Given the description of an element on the screen output the (x, y) to click on. 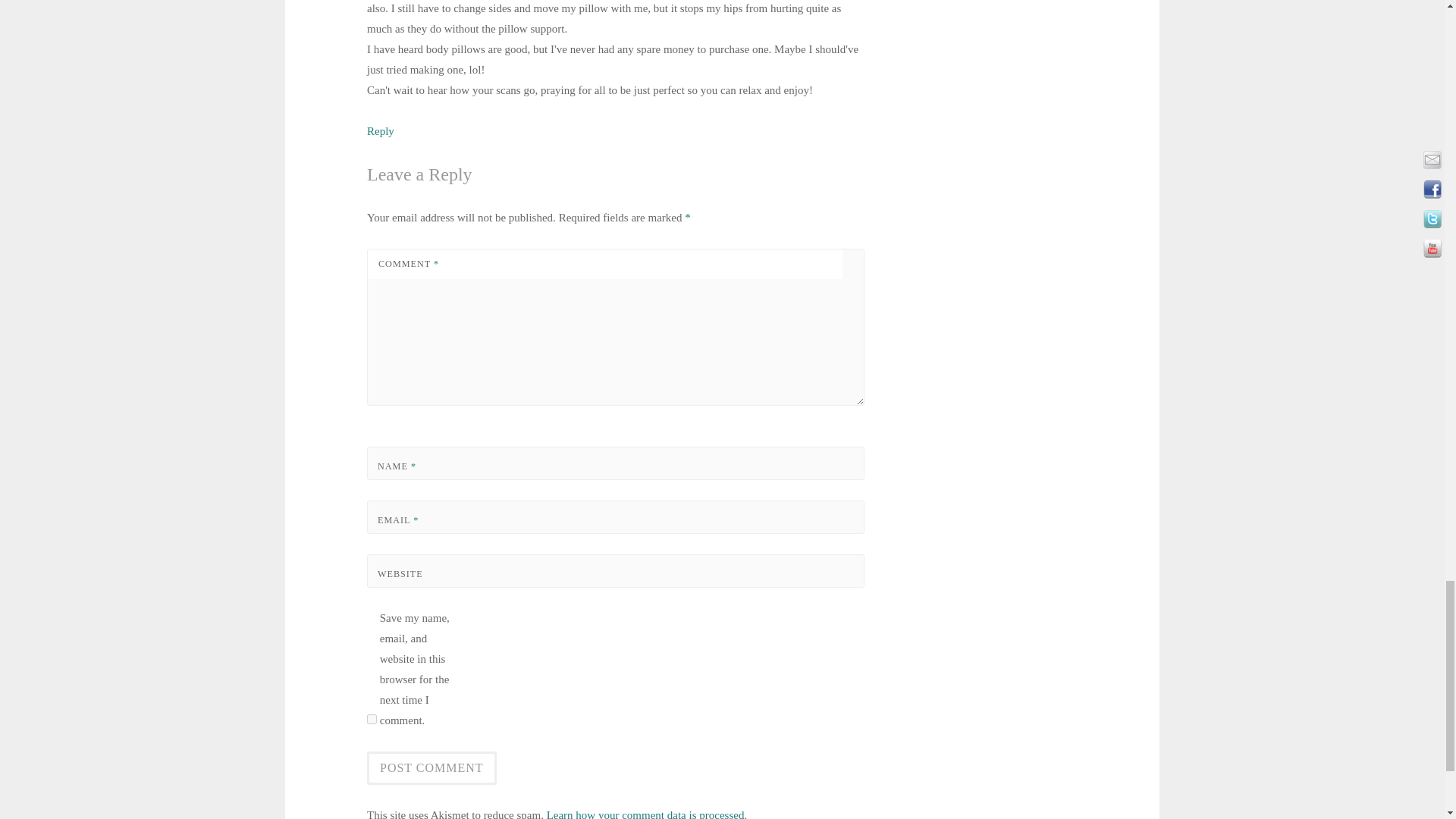
yes (371, 718)
Post Comment (431, 767)
